Given the description of an element on the screen output the (x, y) to click on. 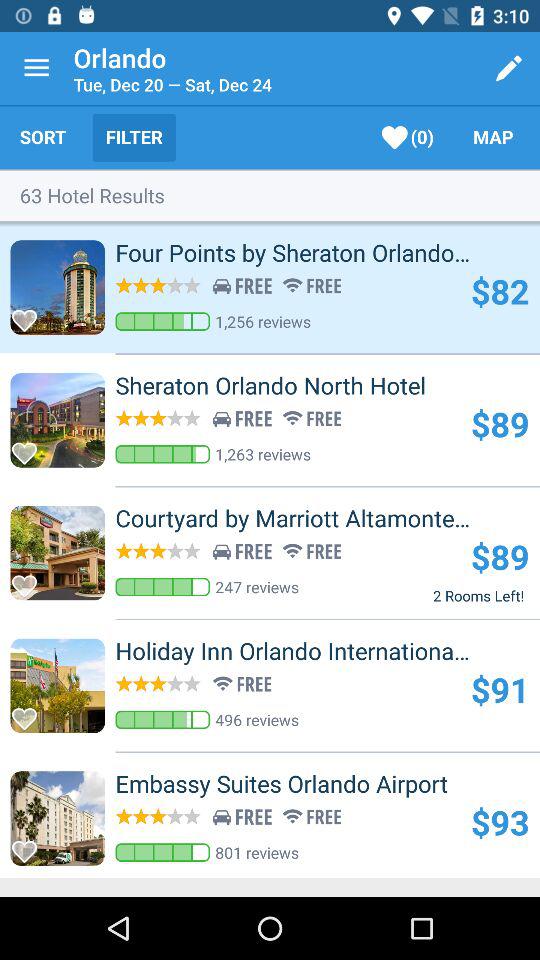
love selection (30, 314)
